Given the description of an element on the screen output the (x, y) to click on. 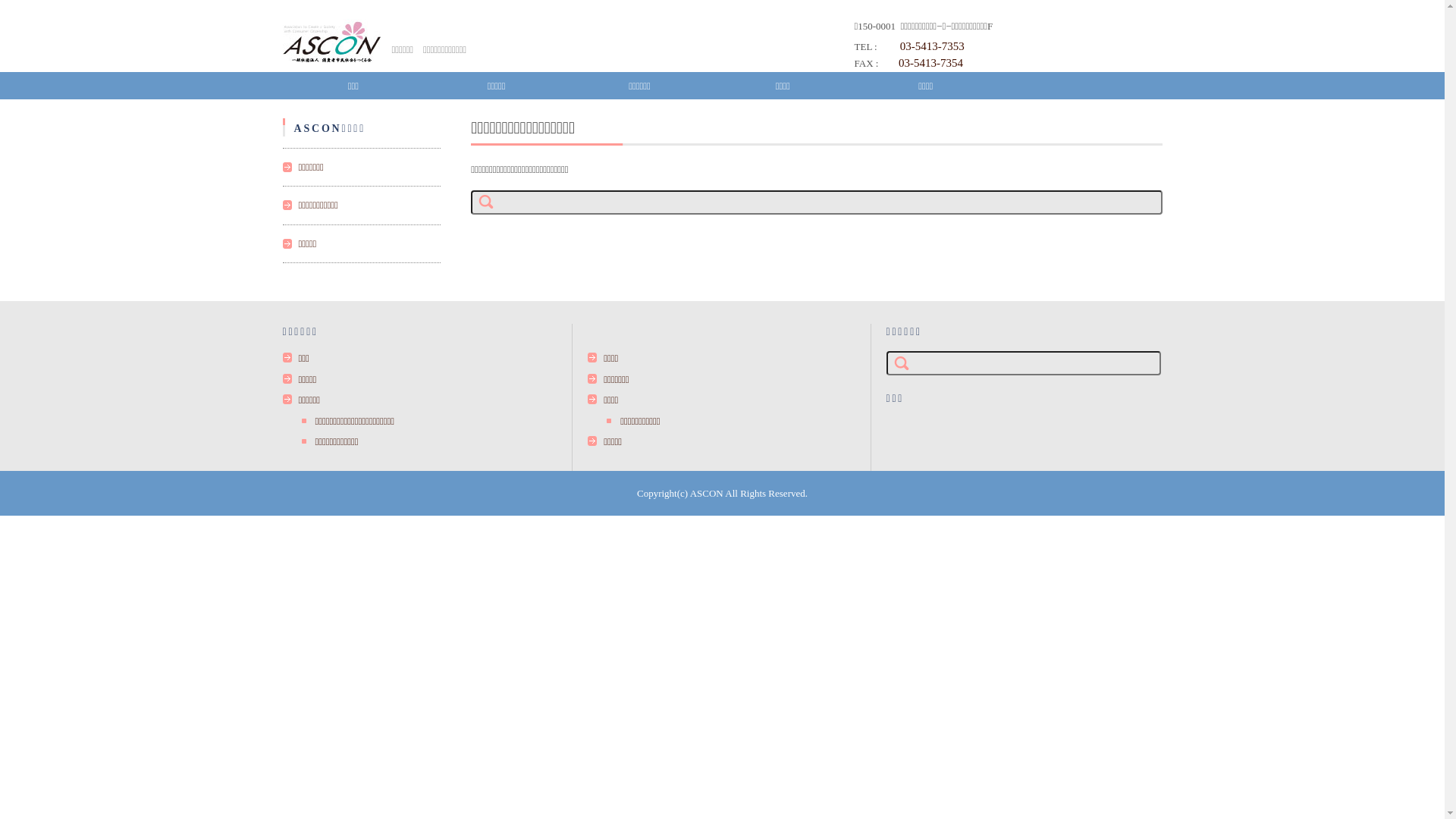
03-5413-7353 Element type: text (932, 44)
ascon Element type: hover (330, 40)
 03-5413-7354 Element type: text (929, 62)
ASCON Element type: text (706, 492)
